Given the description of an element on the screen output the (x, y) to click on. 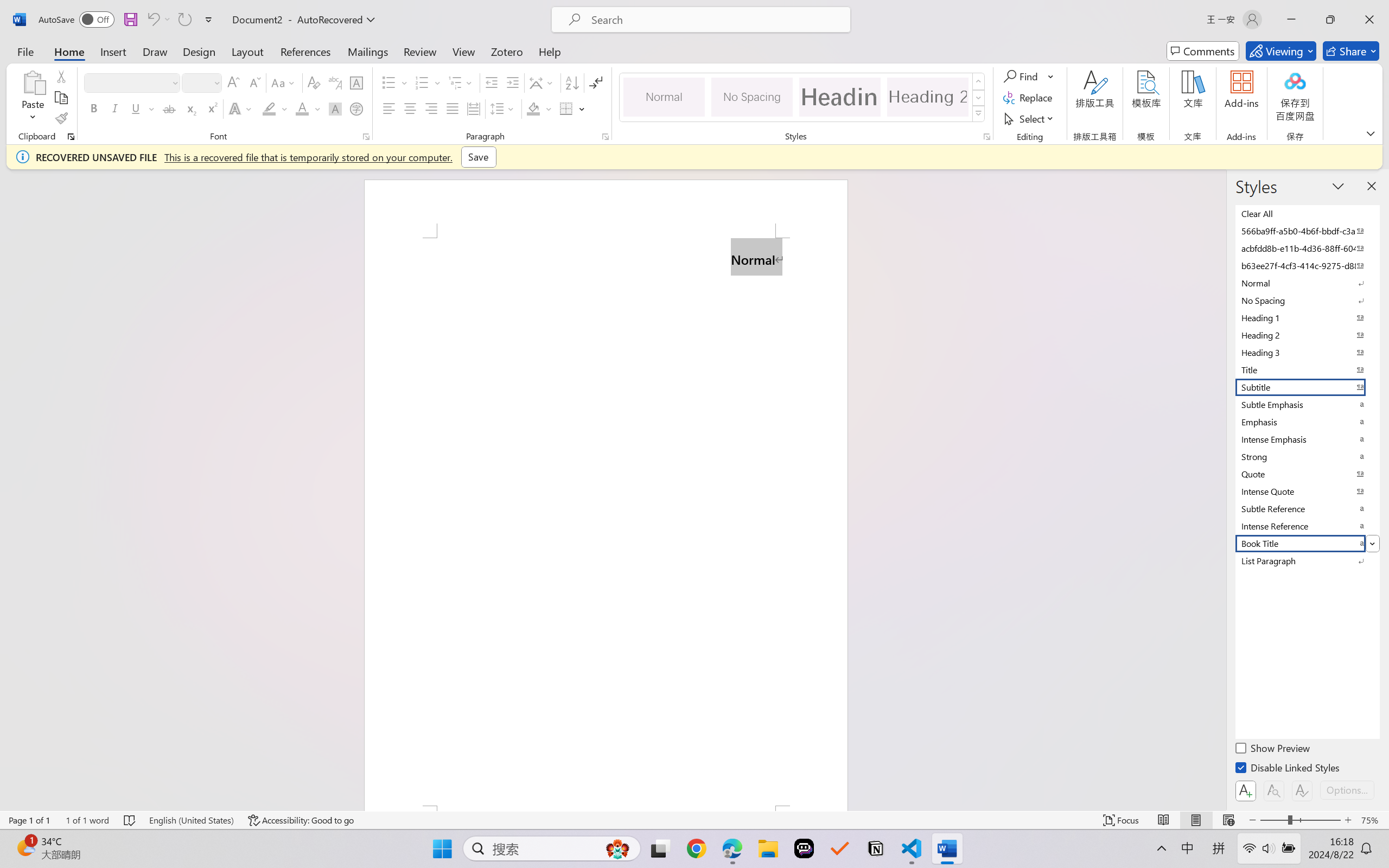
Can't Undo (158, 19)
Mode (1280, 50)
Font... (365, 136)
Office Clipboard... (70, 136)
Format Painter (60, 118)
Page 1 content (605, 521)
Enclose Characters... (356, 108)
Subscript (190, 108)
Decrease Indent (491, 82)
Justify (452, 108)
Strikethrough (169, 108)
